Given the description of an element on the screen output the (x, y) to click on. 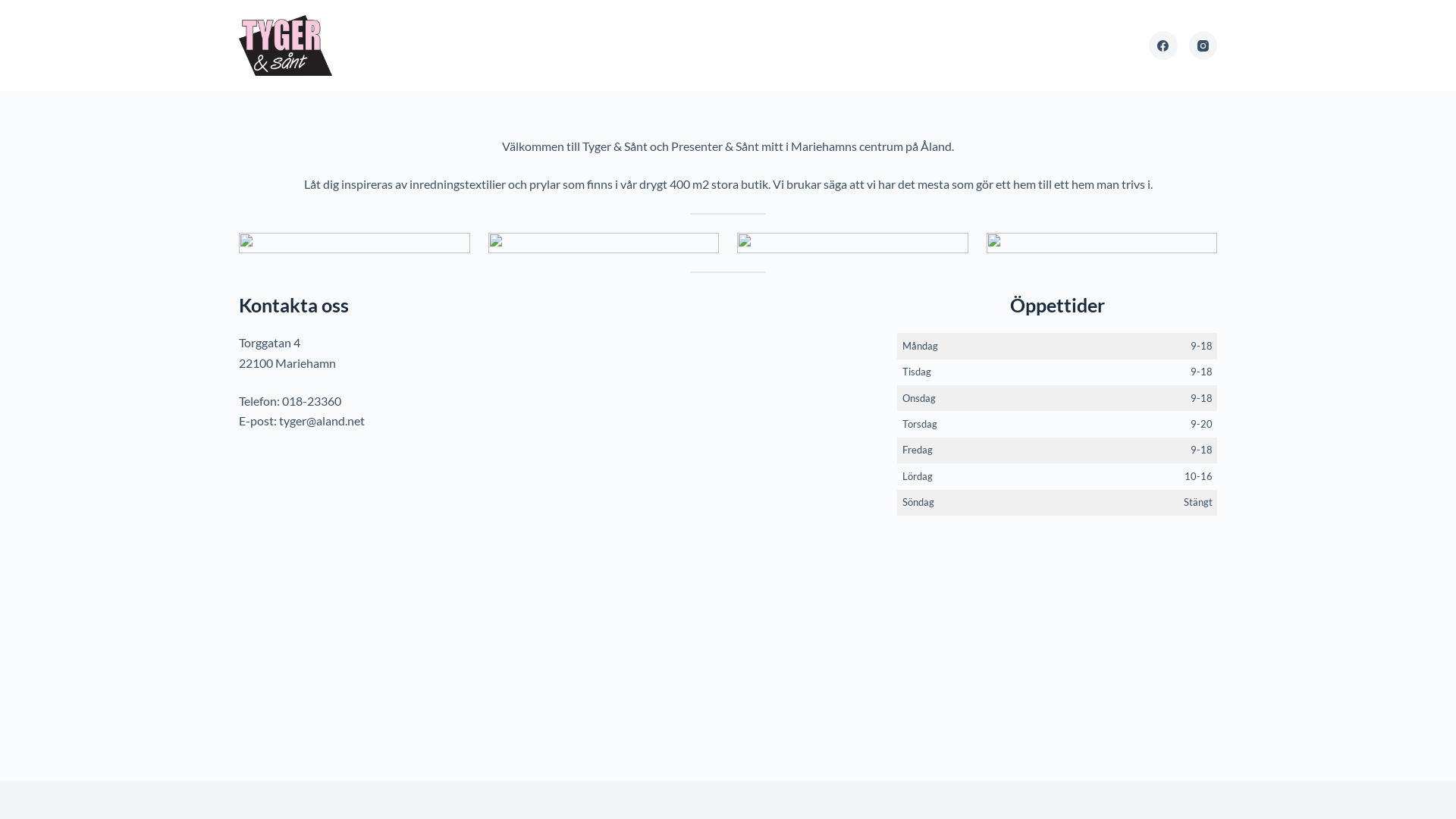
Skip to content Element type: text (15, 7)
